Given the description of an element on the screen output the (x, y) to click on. 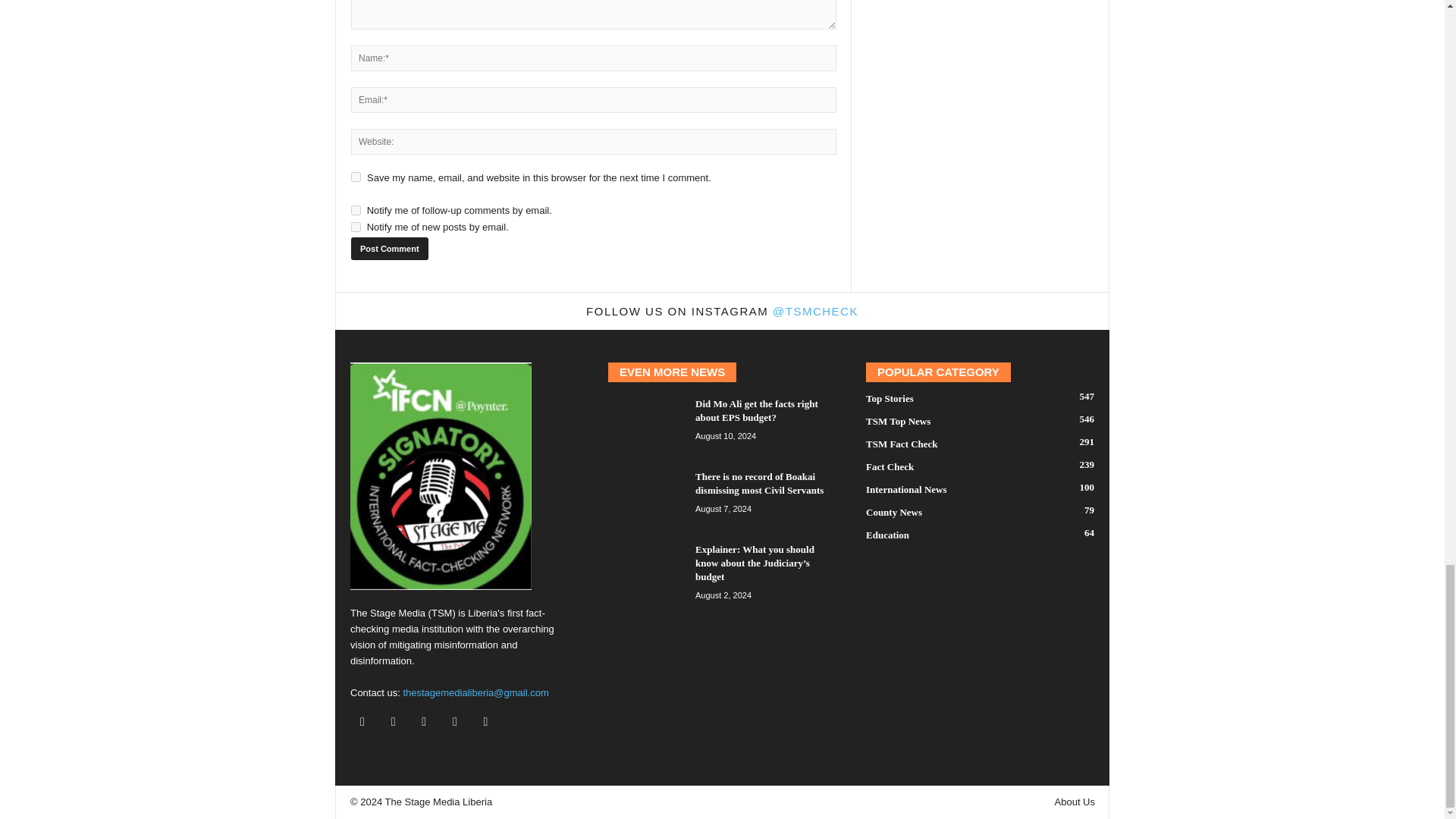
yes (355, 176)
subscribe (355, 226)
Post Comment (389, 248)
subscribe (355, 210)
